Given the description of an element on the screen output the (x, y) to click on. 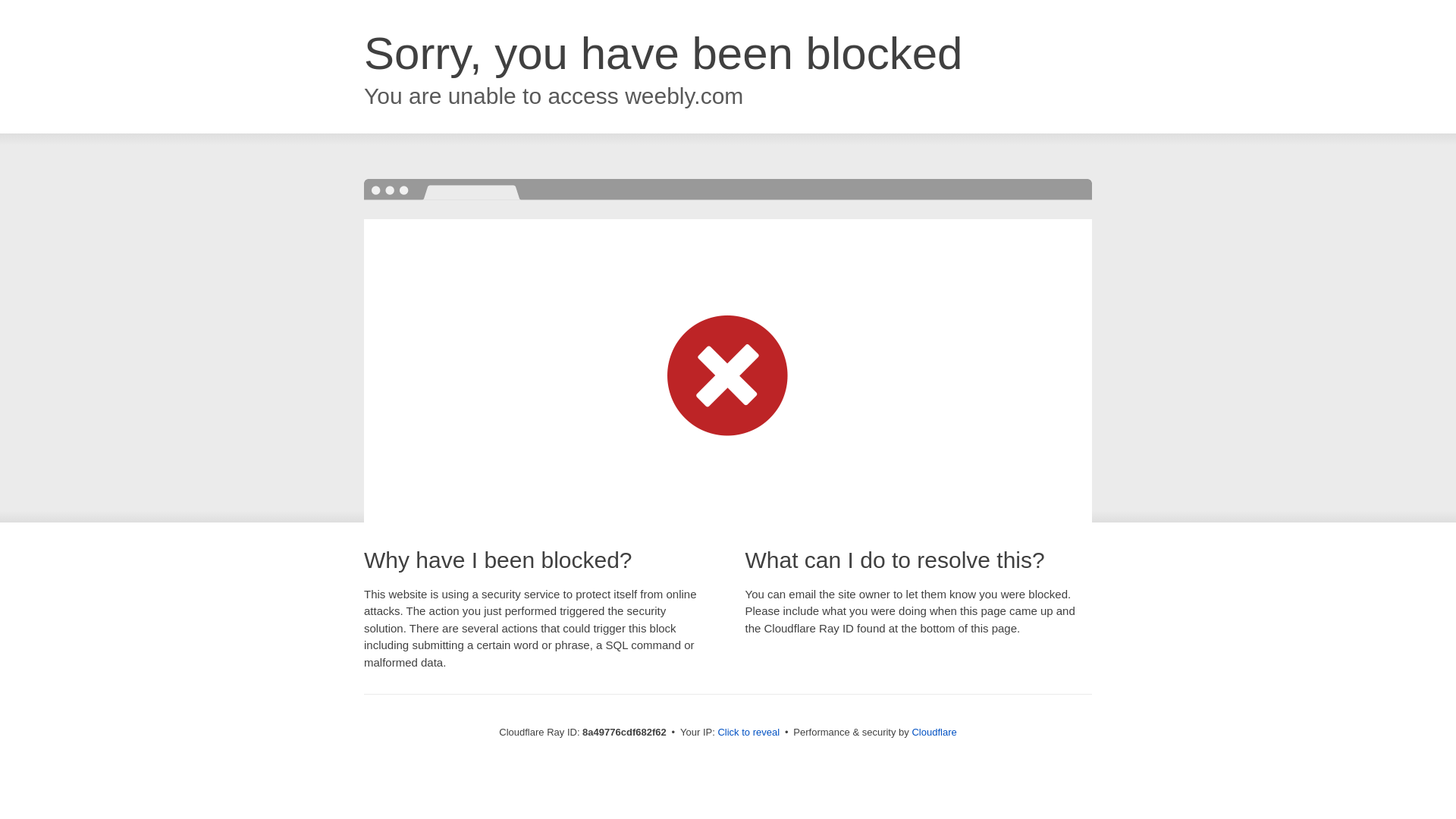
Click to reveal (747, 732)
Cloudflare (933, 731)
